Given the description of an element on the screen output the (x, y) to click on. 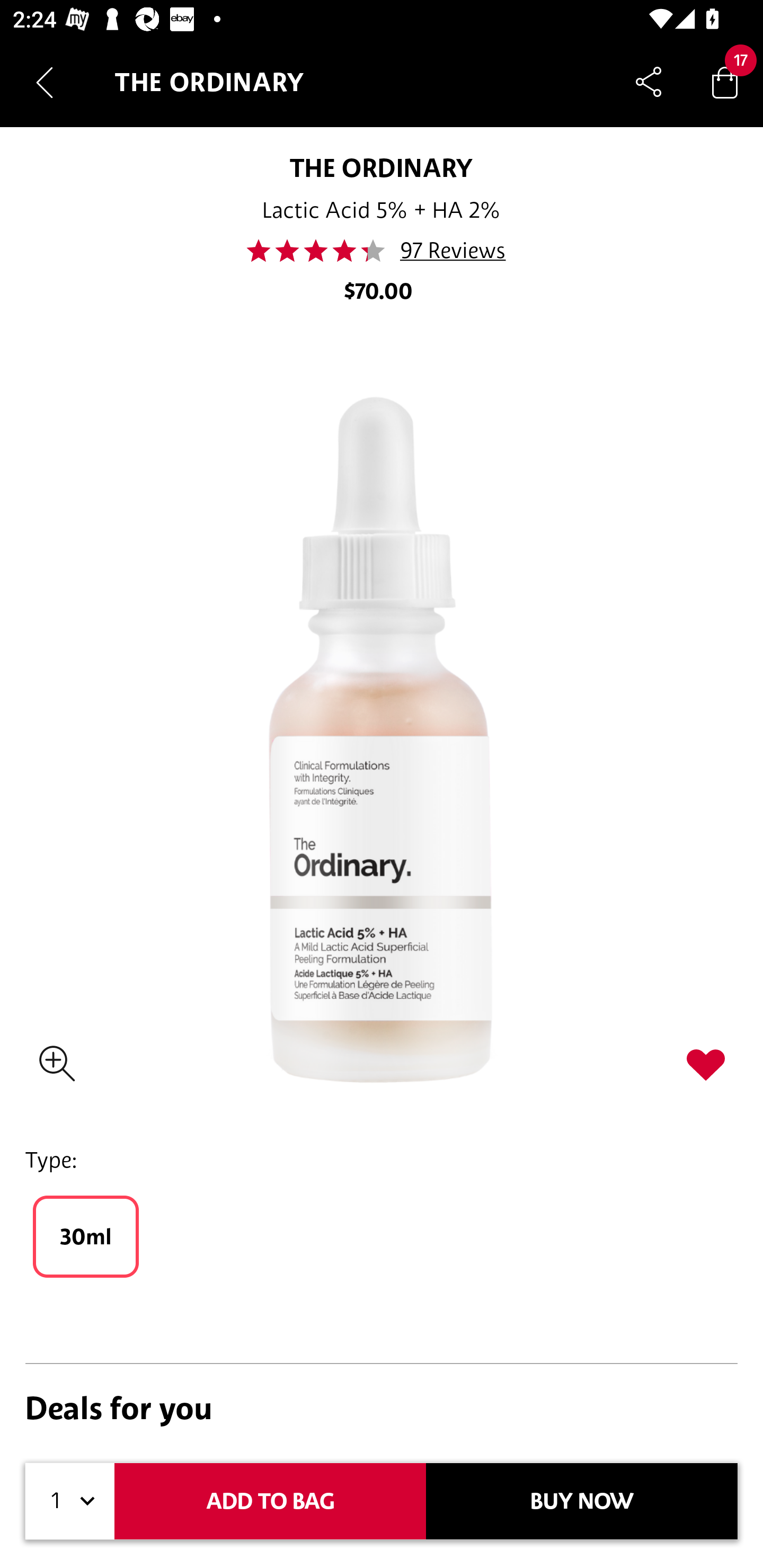
Navigate up (44, 82)
Share (648, 81)
Bag (724, 81)
THE ORDINARY (381, 167)
43.0 97 Reviews (381, 250)
30ml (85, 1235)
1 (69, 1500)
ADD TO BAG (269, 1500)
BUY NOW (581, 1500)
